Given the description of an element on the screen output the (x, y) to click on. 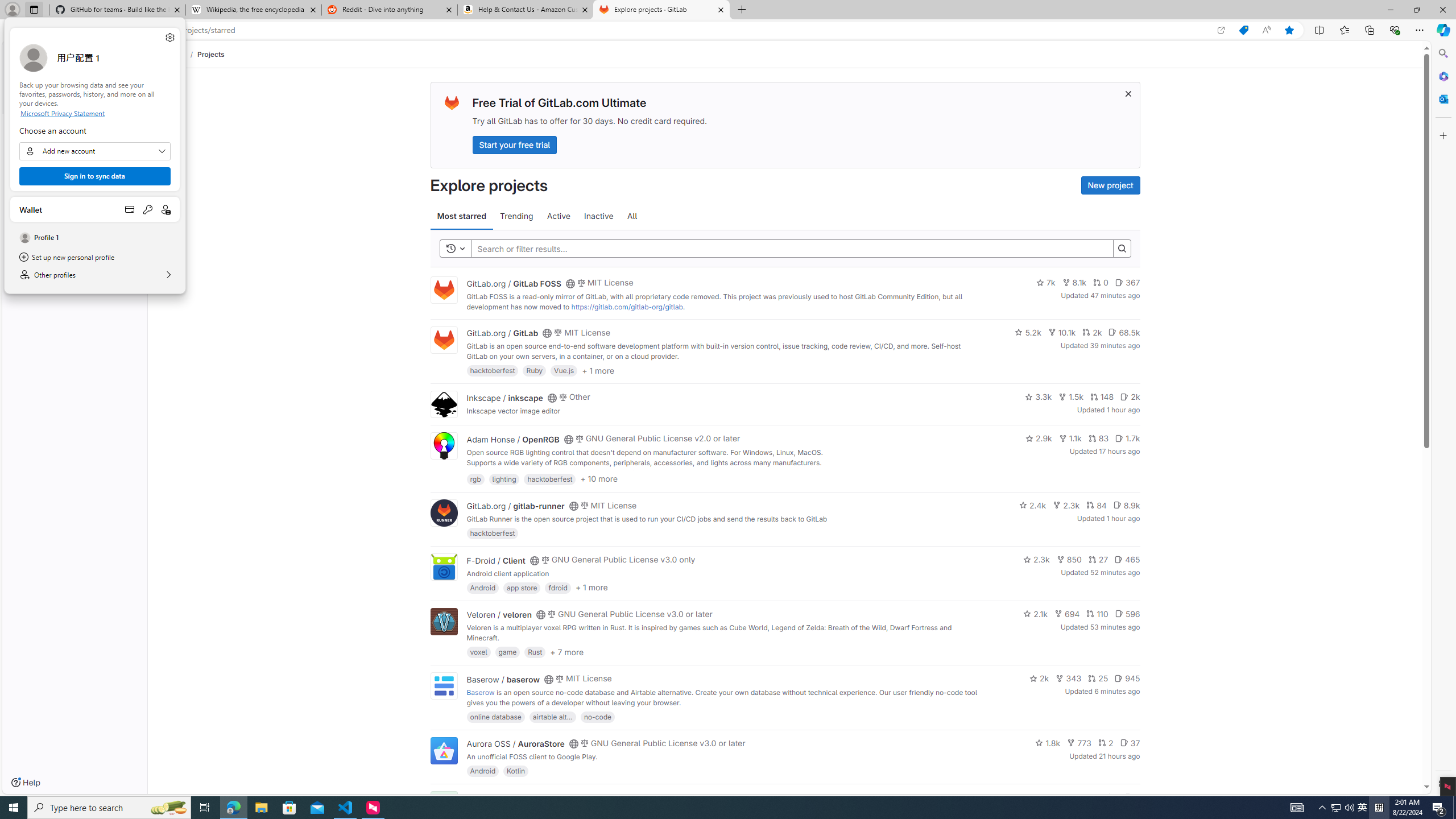
Vue.js (563, 370)
Start (13, 807)
2k (1039, 678)
GitLab.org / GitLab (501, 333)
3.3k (1038, 396)
https://gitlab.com/gitlab-org/gitlab (626, 306)
Open passwords (147, 208)
Profile 1 (94, 237)
1 (1111, 797)
7k (1045, 282)
app store (521, 587)
Rust (535, 651)
Search highlights icon opens search home window (167, 807)
2 (1105, 742)
